Given the description of an element on the screen output the (x, y) to click on. 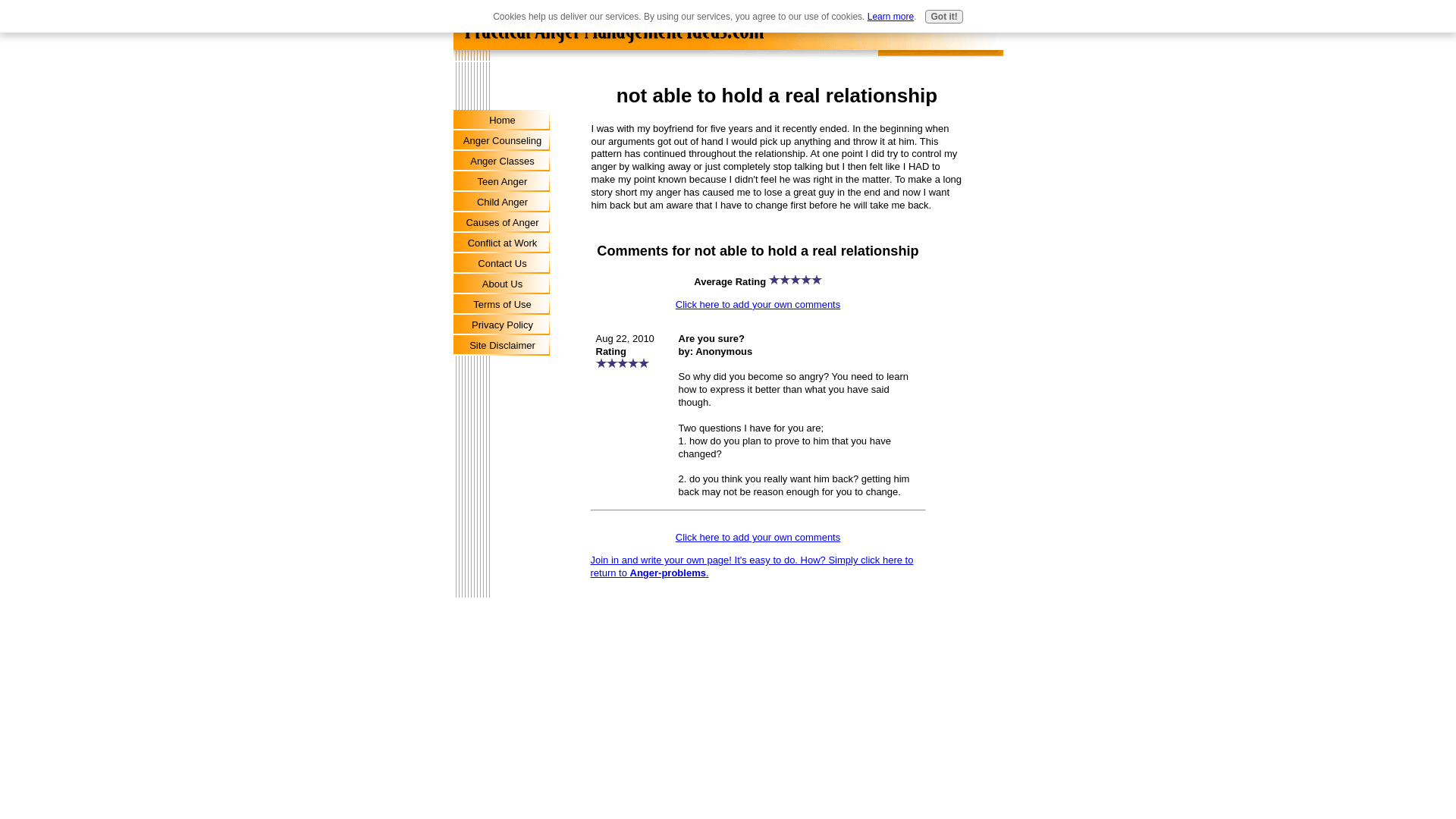
Anger Counseling (501, 140)
About Us (501, 283)
Learn more (890, 16)
Contact Us (501, 263)
Anger Classes (501, 160)
Click here to add your own comments (757, 304)
Causes of Anger (501, 222)
Conflict at Work (501, 242)
Terms of Use (501, 304)
Site Disclaimer (501, 344)
Privacy Policy (501, 324)
Teen Anger (501, 181)
Click here to add your own comments (757, 536)
Got it! (943, 16)
